Given the description of an element on the screen output the (x, y) to click on. 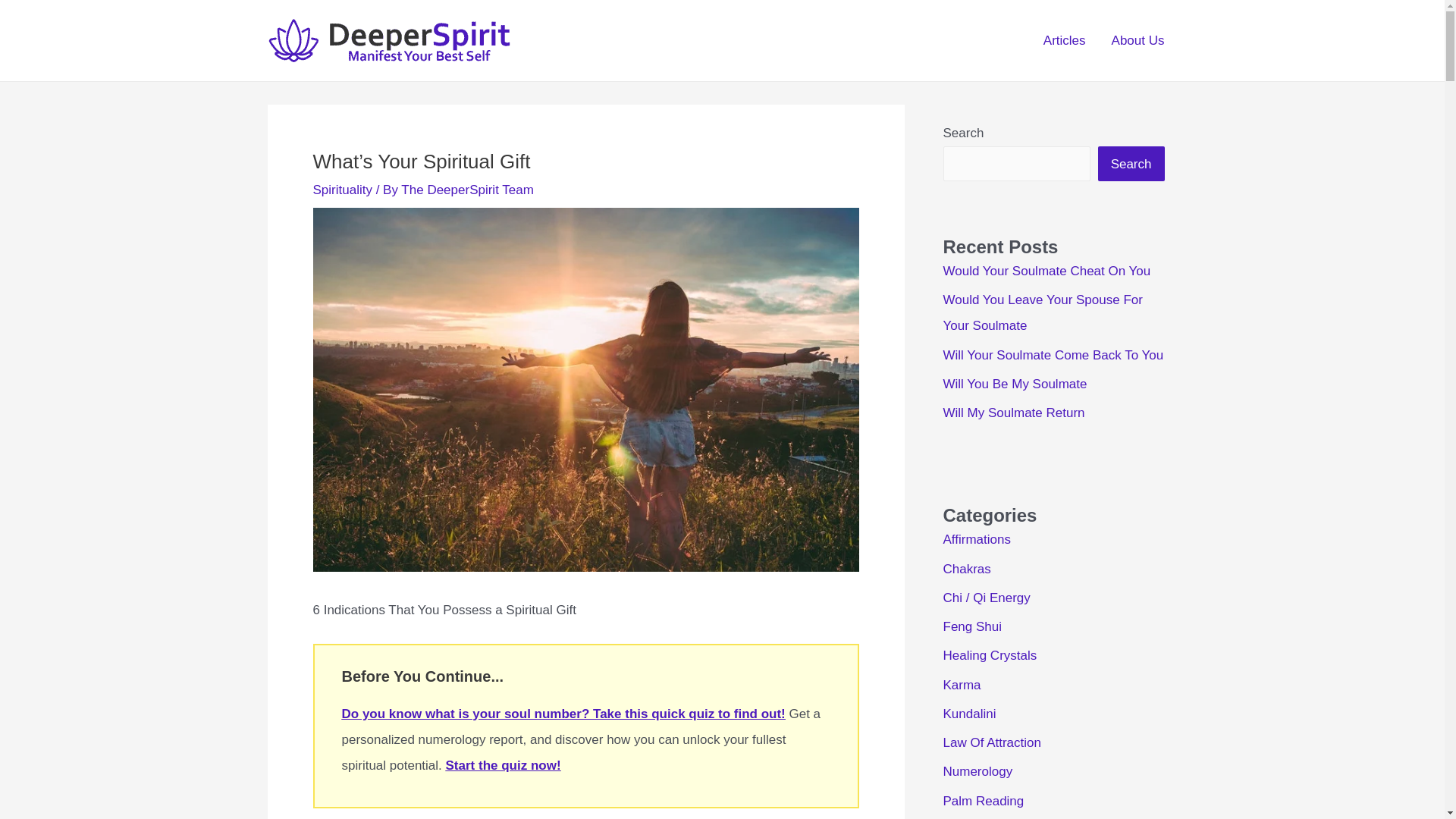
Kundalini (969, 713)
Start the quiz now! (502, 765)
Healing Crystals (989, 655)
Karma (962, 685)
View all posts by The DeeperSpirit Team (467, 189)
Chakras (967, 568)
Would Your Soulmate Cheat On You (1047, 270)
The DeeperSpirit Team (467, 189)
Will Your Soulmate Come Back To You (1053, 355)
Feng Shui (973, 626)
